Given the description of an element on the screen output the (x, y) to click on. 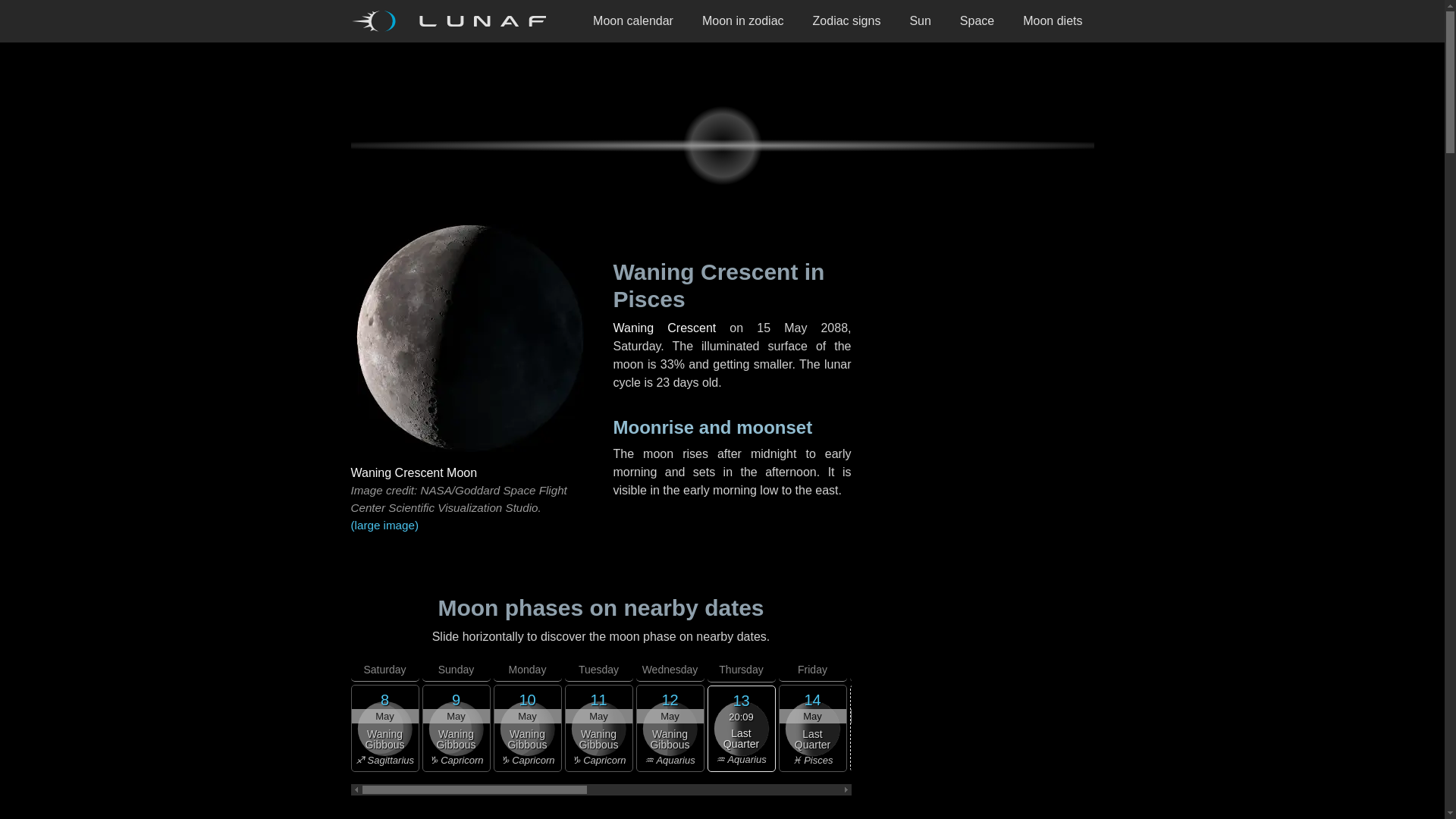
Moon in zodiac (742, 21)
Space (977, 21)
Lunaf (453, 21)
Moon calendar (632, 21)
Zodiac signs (847, 21)
Moon diets (1052, 21)
Moon calendar (632, 21)
Sun (920, 21)
Moon in zodiac (742, 21)
Space (977, 21)
Moon diets (1052, 21)
Large image PNG: Waning Crescent Moon (469, 525)
Sun (920, 21)
Zodiac signs (847, 21)
